Given the description of an element on the screen output the (x, y) to click on. 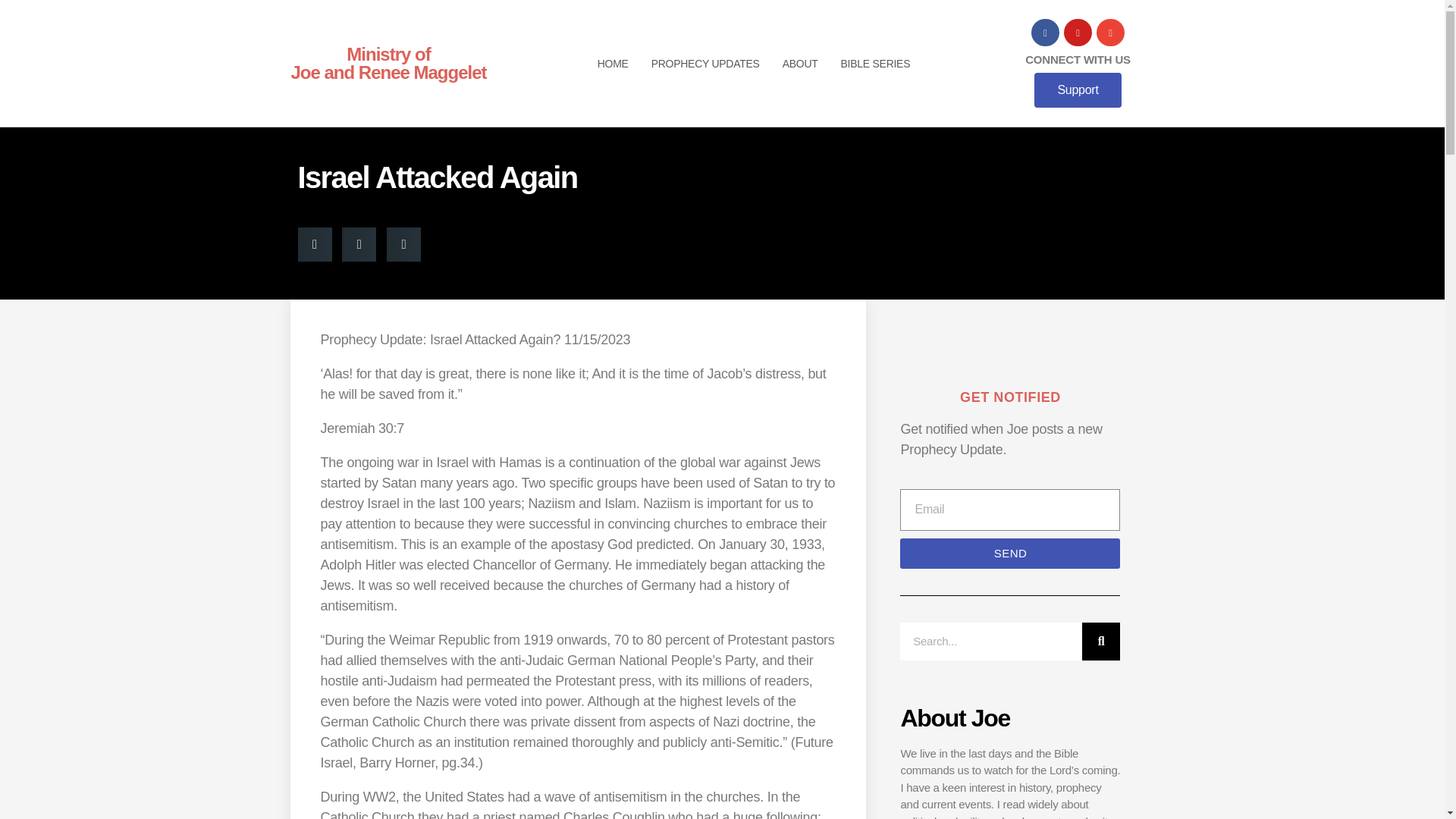
Search (990, 641)
Support (1077, 89)
PROPHECY UPDATES (705, 63)
BIBLE SERIES (387, 63)
SEND (875, 63)
ABOUT (1009, 553)
HOME (799, 63)
Search (612, 63)
